Given the description of an element on the screen output the (x, y) to click on. 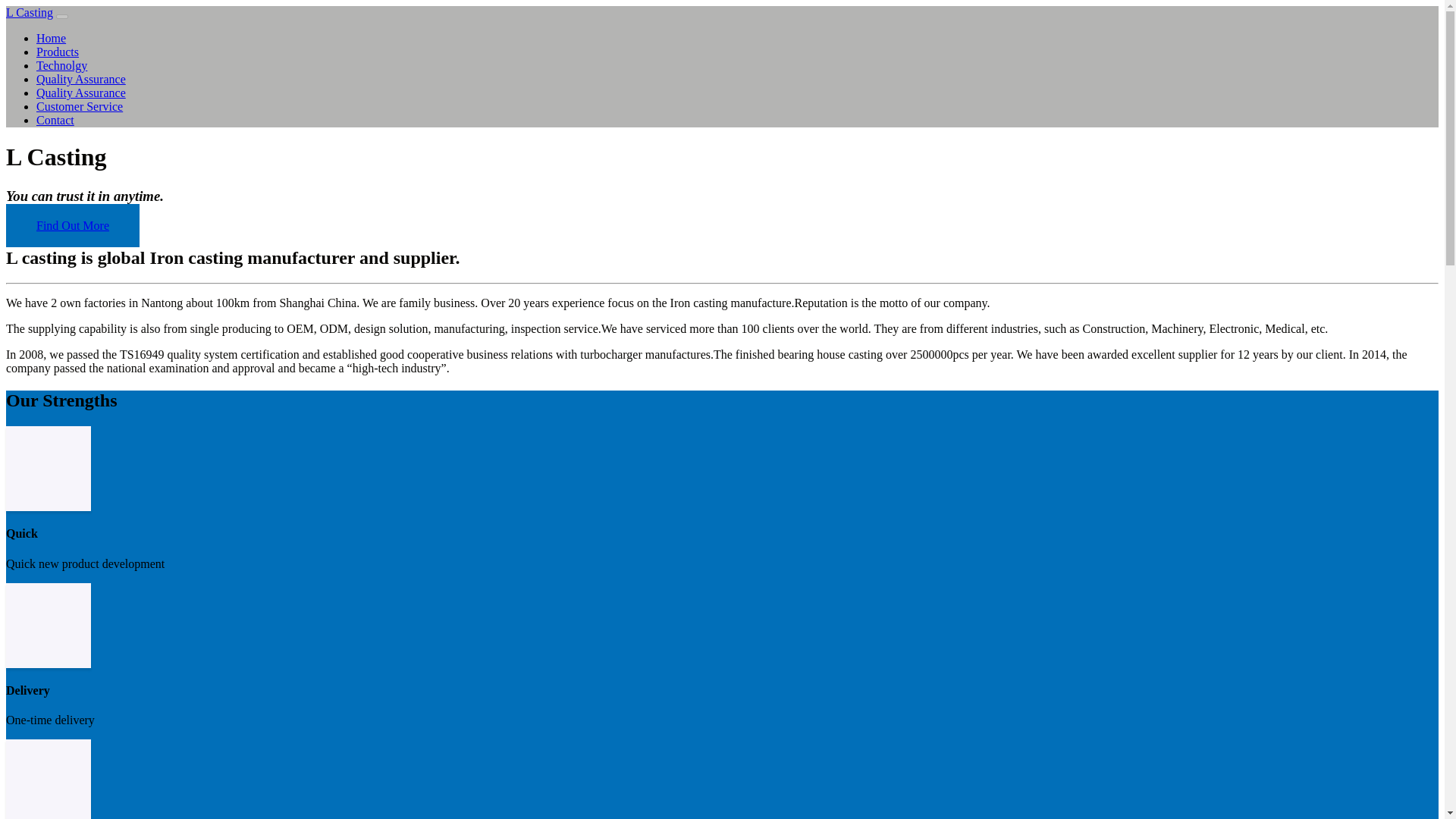
Find Out More (72, 225)
Quality Assurance (80, 92)
Quality Assurance (80, 78)
Technolgy (61, 65)
Contact (55, 119)
L Casting (28, 11)
Home (50, 38)
Products (57, 51)
Customer Service (79, 106)
